Given the description of an element on the screen output the (x, y) to click on. 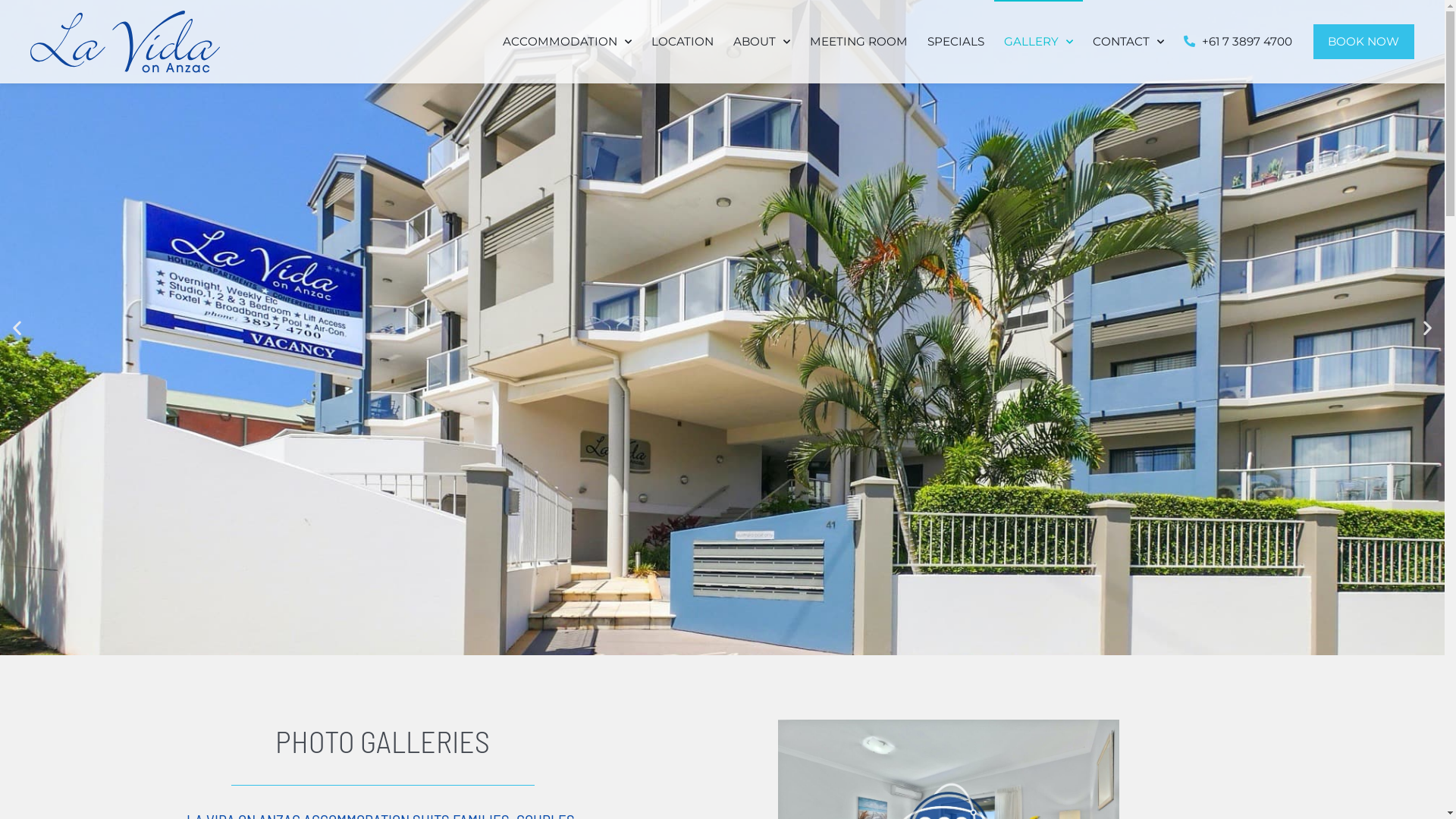
ACCOMMODATION Element type: text (566, 41)
BOOK NOW Element type: text (1364, 41)
+61 7 3897 4700 Element type: text (1237, 41)
CONTACT Element type: text (1127, 41)
SPECIALS Element type: text (955, 41)
GALLERY Element type: text (1037, 41)
ABOUT Element type: text (761, 41)
LOCATION Element type: text (682, 41)
MEETING ROOM Element type: text (857, 41)
